Given the description of an element on the screen output the (x, y) to click on. 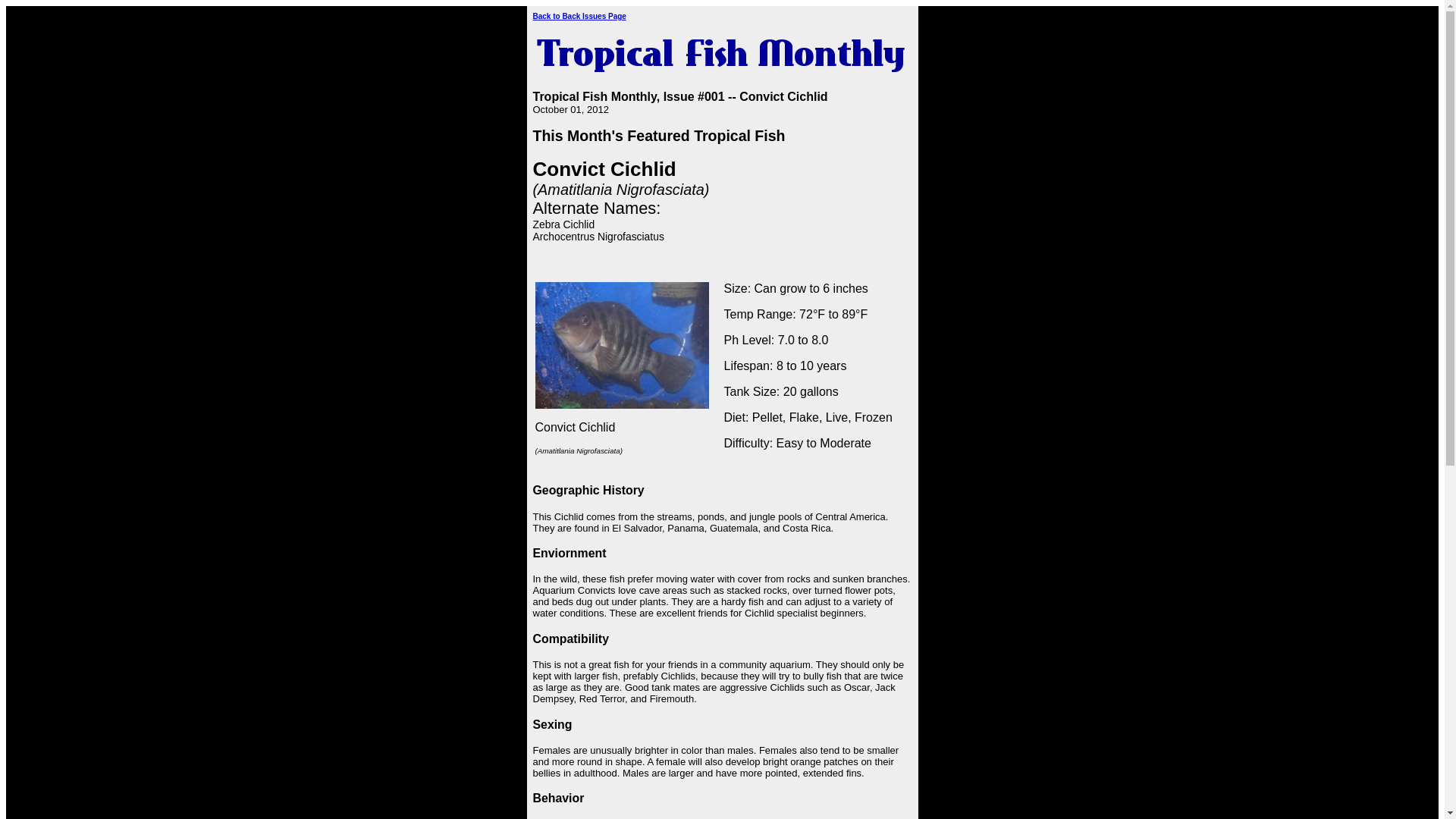
Back to Back Issues Page (579, 16)
